Given the description of an element on the screen output the (x, y) to click on. 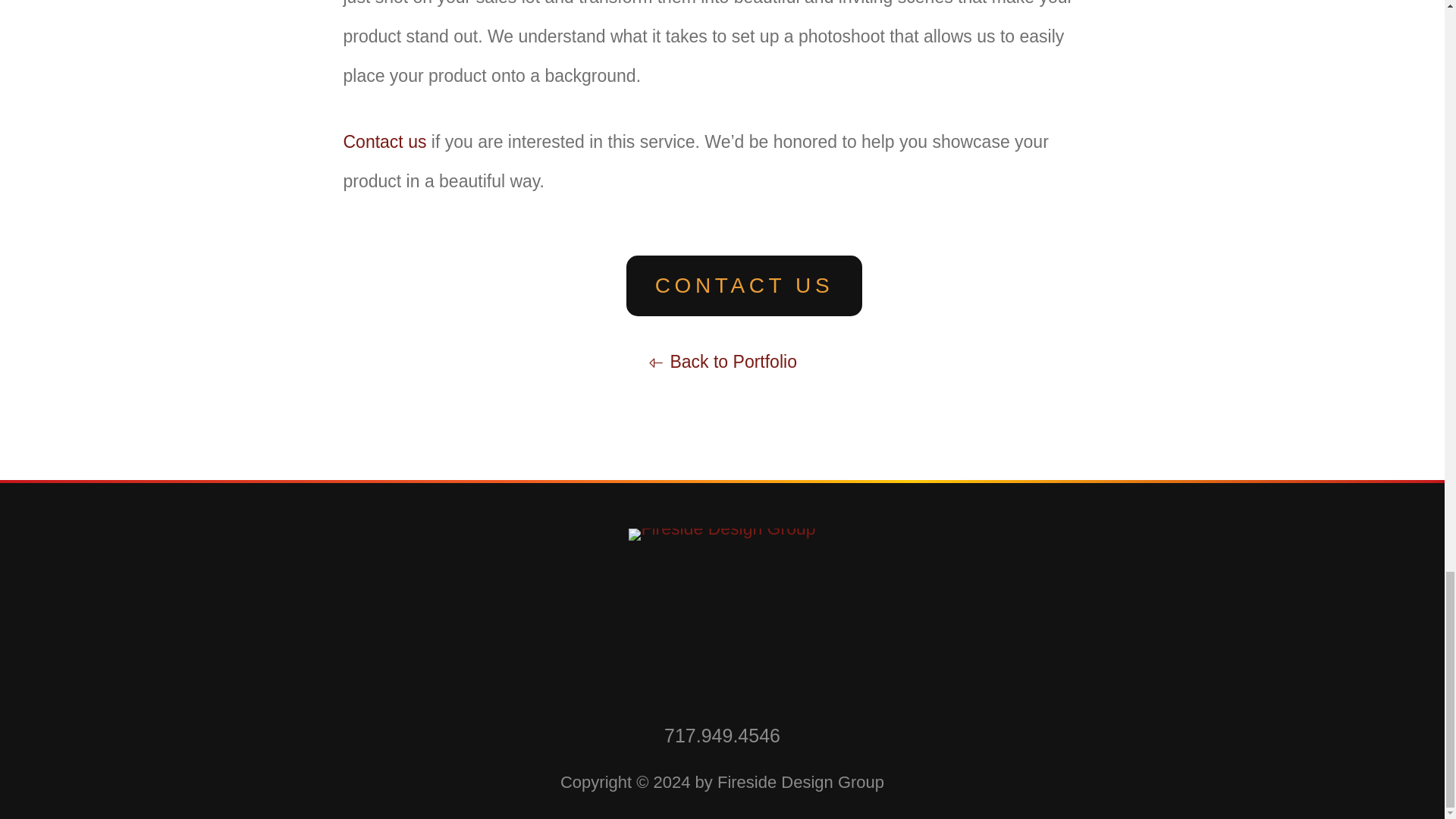
Contact us (384, 141)
CONTACT US (743, 285)
